Given the description of an element on the screen output the (x, y) to click on. 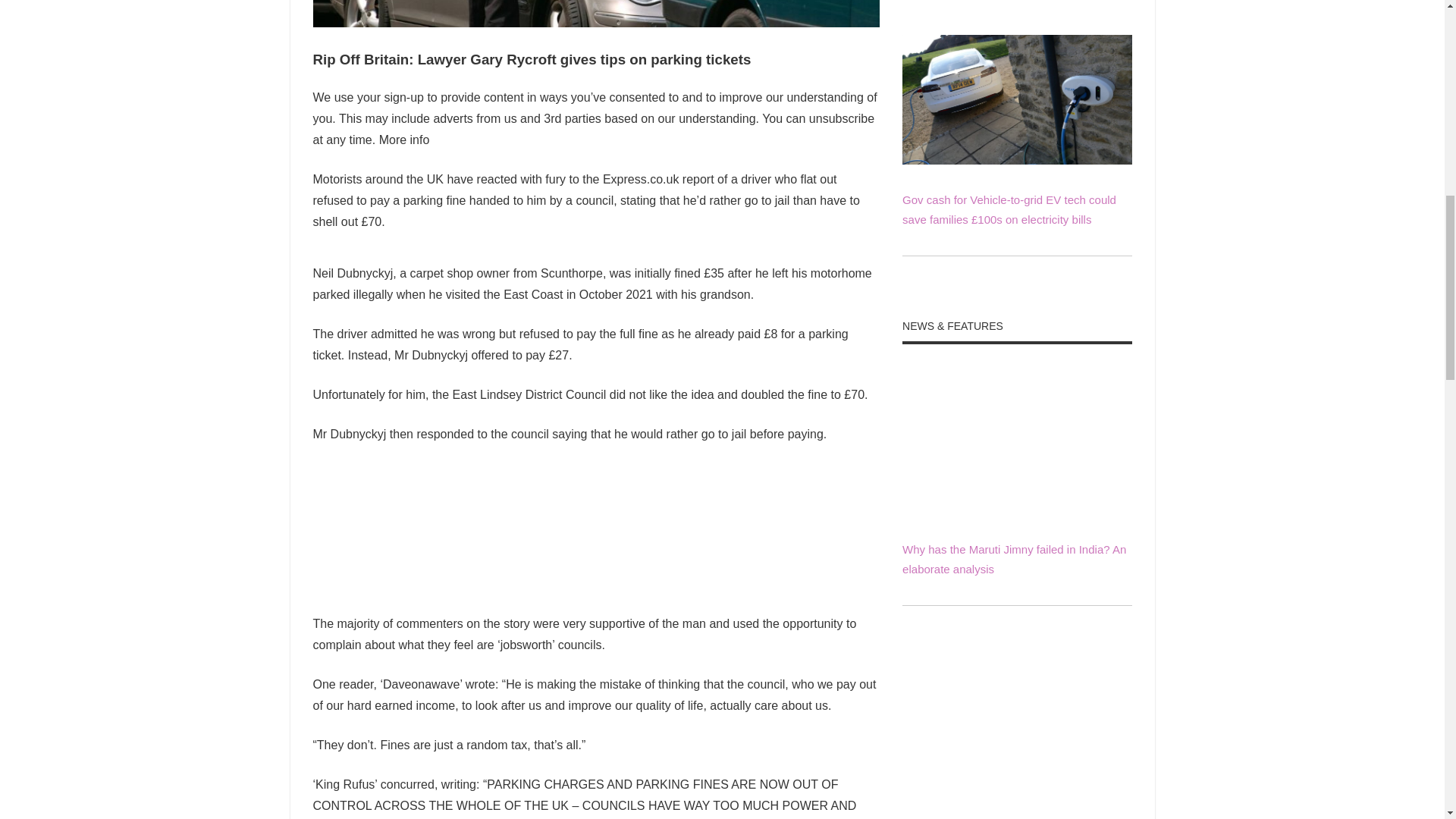
Kia Seltos GT Line Diesel vs Petrol? Scared of DPF and DCT! (1016, 791)
